Given the description of an element on the screen output the (x, y) to click on. 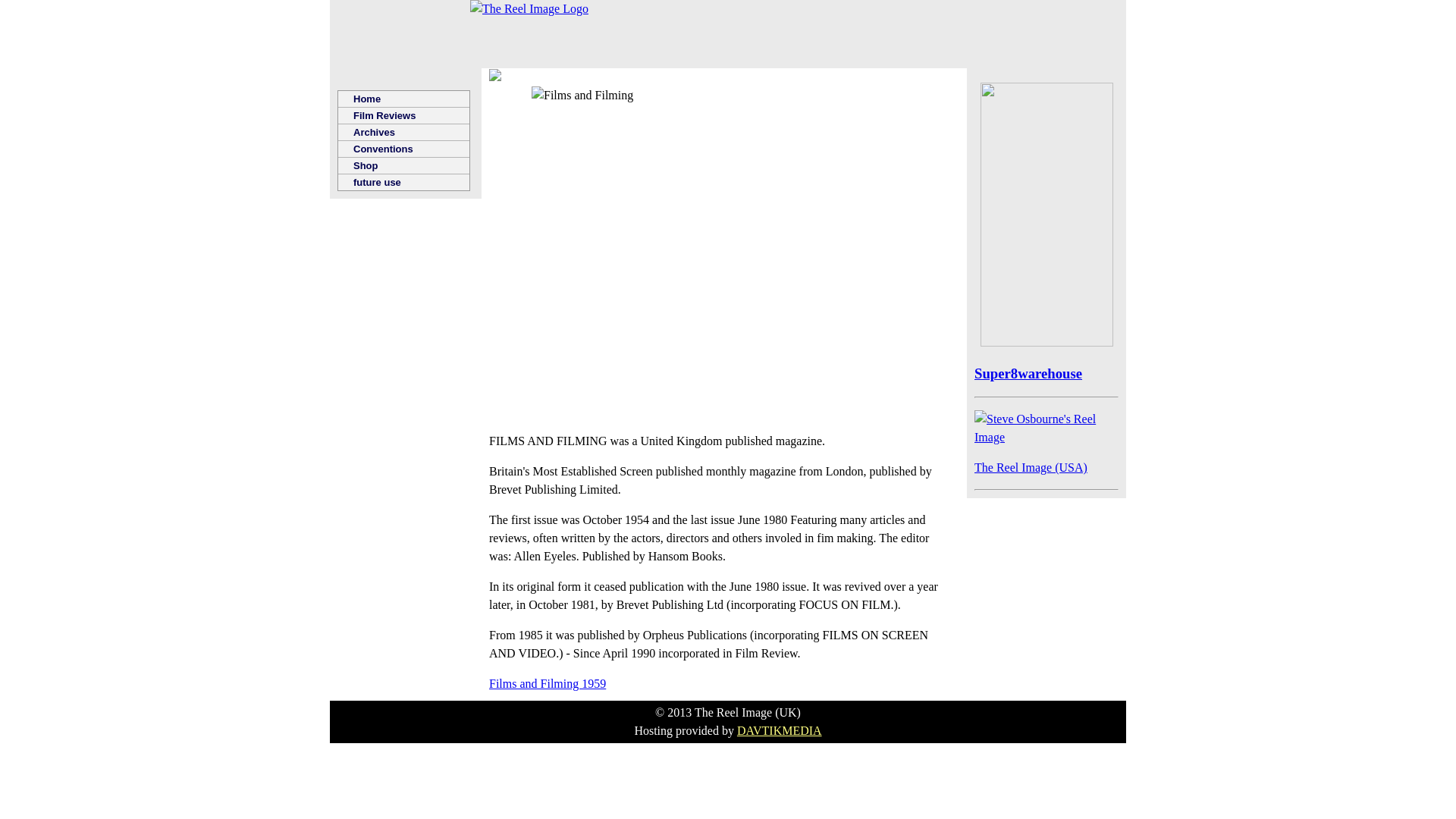
Shop (402, 166)
future use (402, 182)
Films and Filming 1959 (547, 683)
DAVTIKMEDIA (779, 730)
Conventions (402, 149)
Film Reviews (402, 115)
Super8warehouse (1027, 382)
Archives (402, 132)
Home (402, 98)
